Given the description of an element on the screen output the (x, y) to click on. 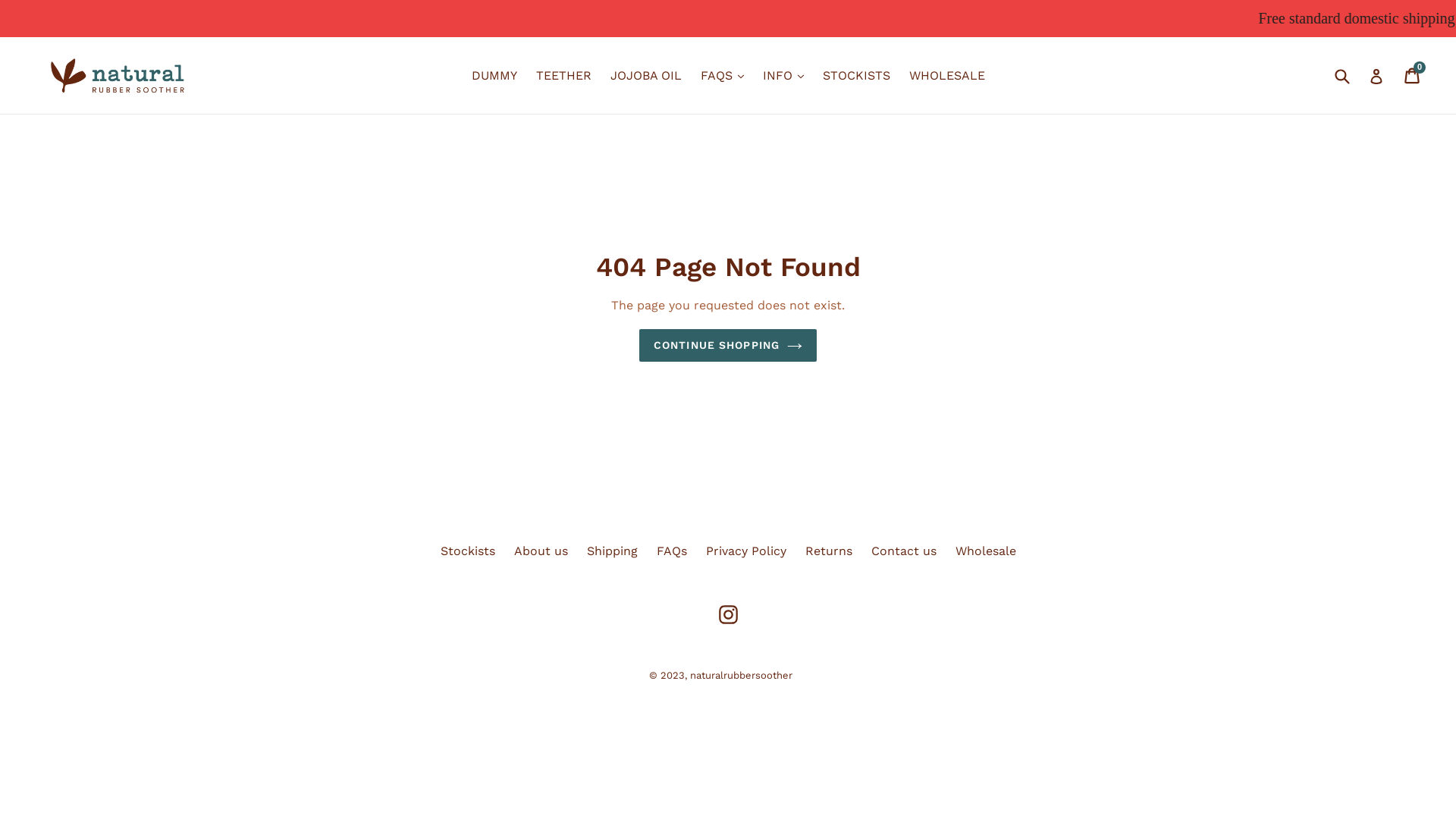
Cart
Cart
0 Element type: text (1412, 75)
CONTINUE SHOPPING Element type: text (727, 345)
STOCKISTS Element type: text (855, 75)
Privacy Policy Element type: text (745, 550)
Instagram Element type: text (727, 614)
DUMMY Element type: text (494, 75)
WHOLESALE Element type: text (945, 75)
Returns Element type: text (828, 550)
Contact us Element type: text (902, 550)
Log in Element type: text (1375, 75)
Submit Element type: text (1341, 75)
JOJOBA OIL Element type: text (645, 75)
FAQs Element type: text (671, 550)
Stockists Element type: text (466, 550)
naturalrubbersoother Element type: text (741, 674)
Shipping Element type: text (611, 550)
TEETHER Element type: text (562, 75)
About us Element type: text (540, 550)
Wholesale Element type: text (985, 550)
